Given the description of an element on the screen output the (x, y) to click on. 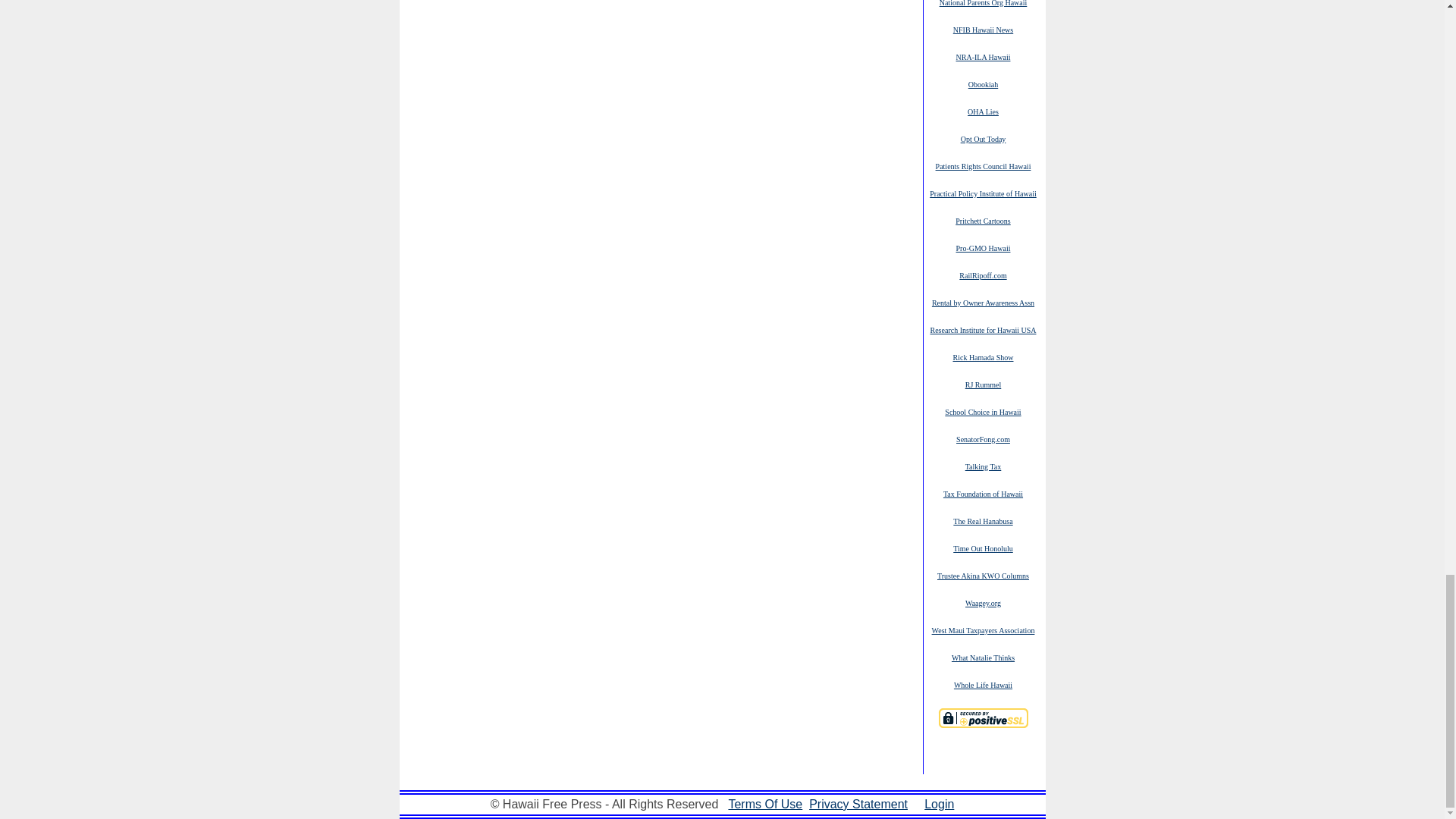
Login (938, 803)
